Given the description of an element on the screen output the (x, y) to click on. 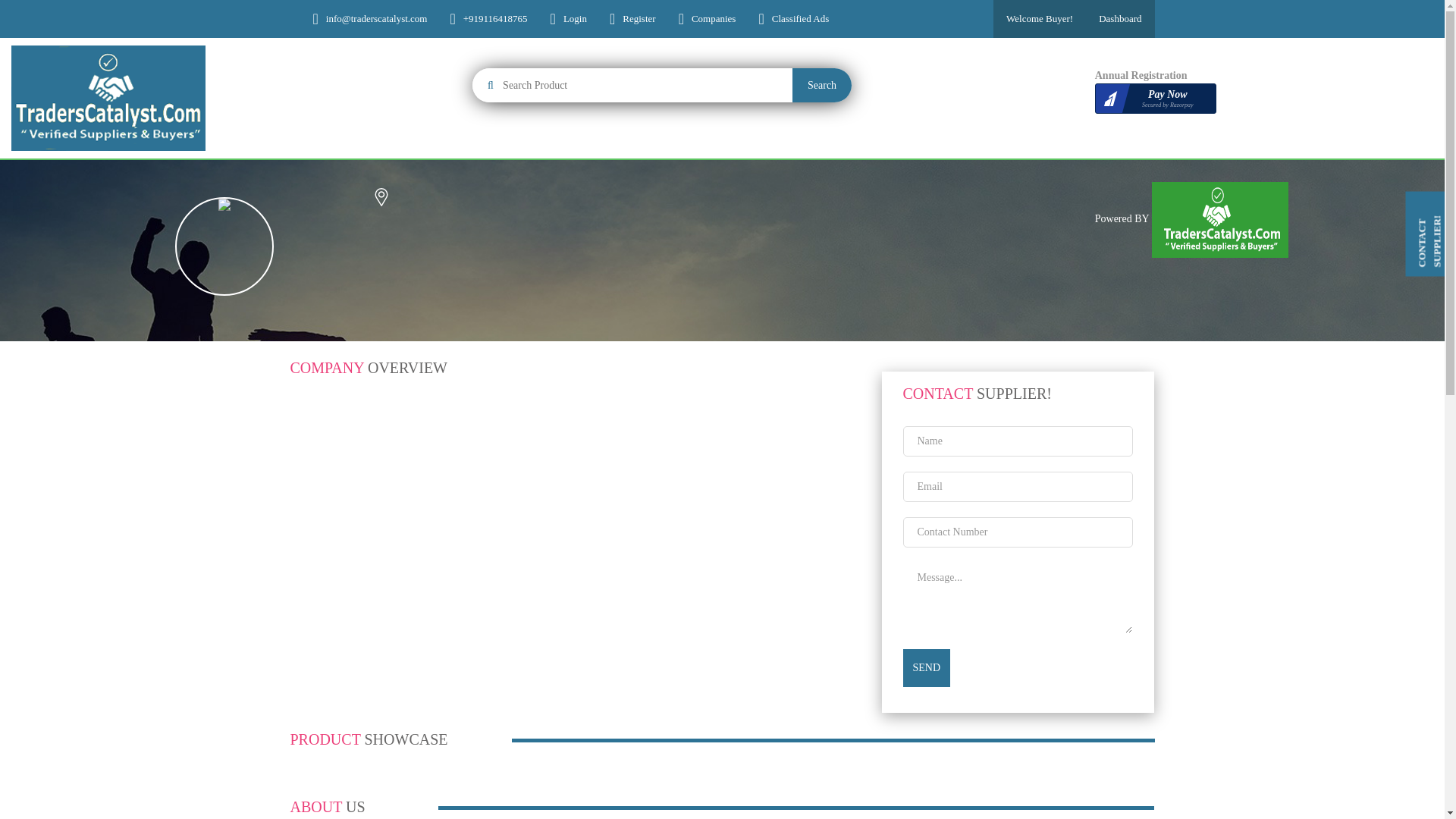
Companies (713, 19)
SEND (926, 668)
Search (821, 84)
Register (639, 19)
Dashboard (1120, 18)
Product Name (631, 84)
Classified Ads (1154, 98)
Welcome Buyer! (799, 19)
Login (1039, 18)
